Given the description of an element on the screen output the (x, y) to click on. 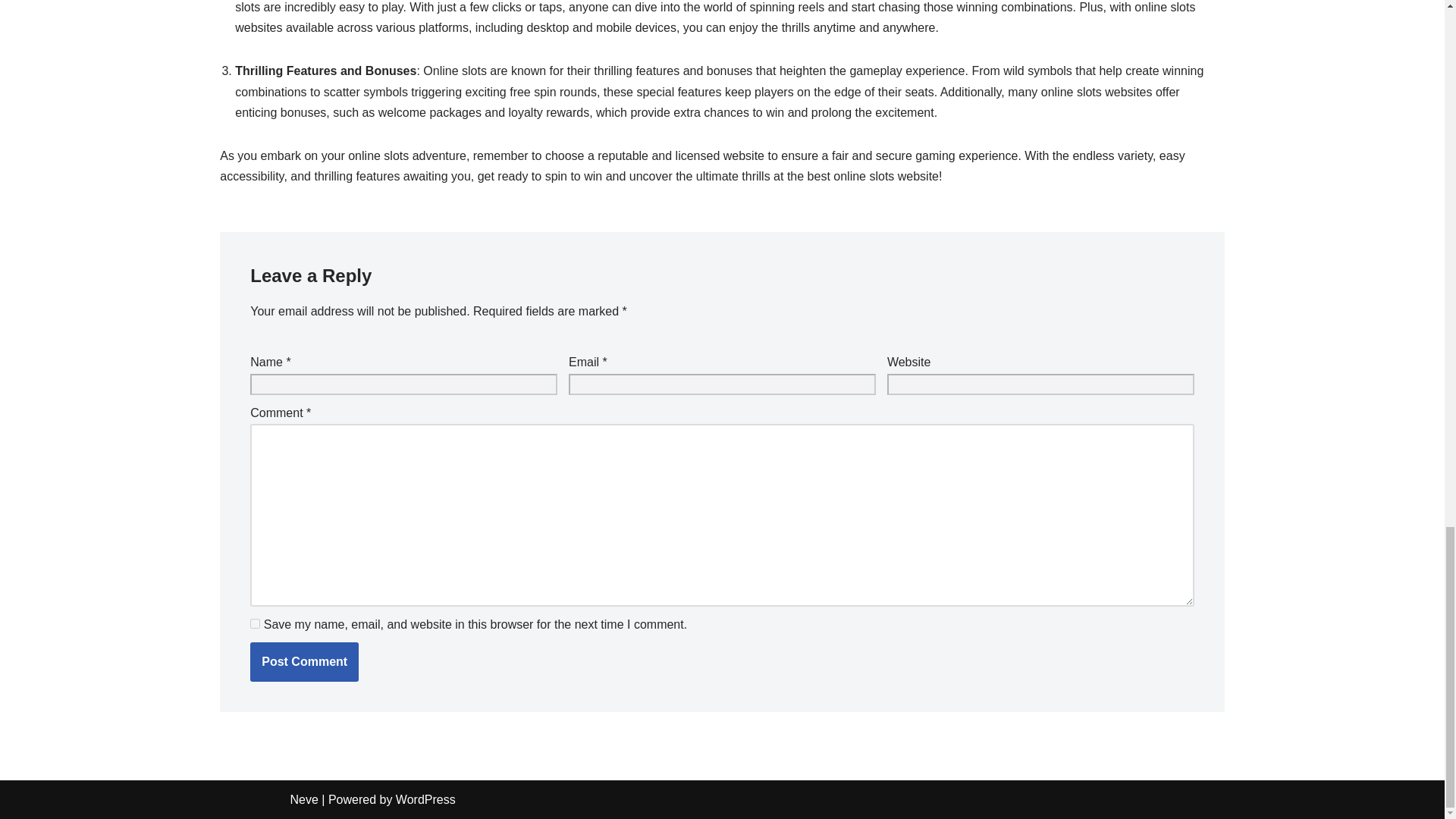
Post Comment (304, 661)
yes (255, 623)
Post Comment (304, 661)
Neve (303, 799)
WordPress (425, 799)
